Given the description of an element on the screen output the (x, y) to click on. 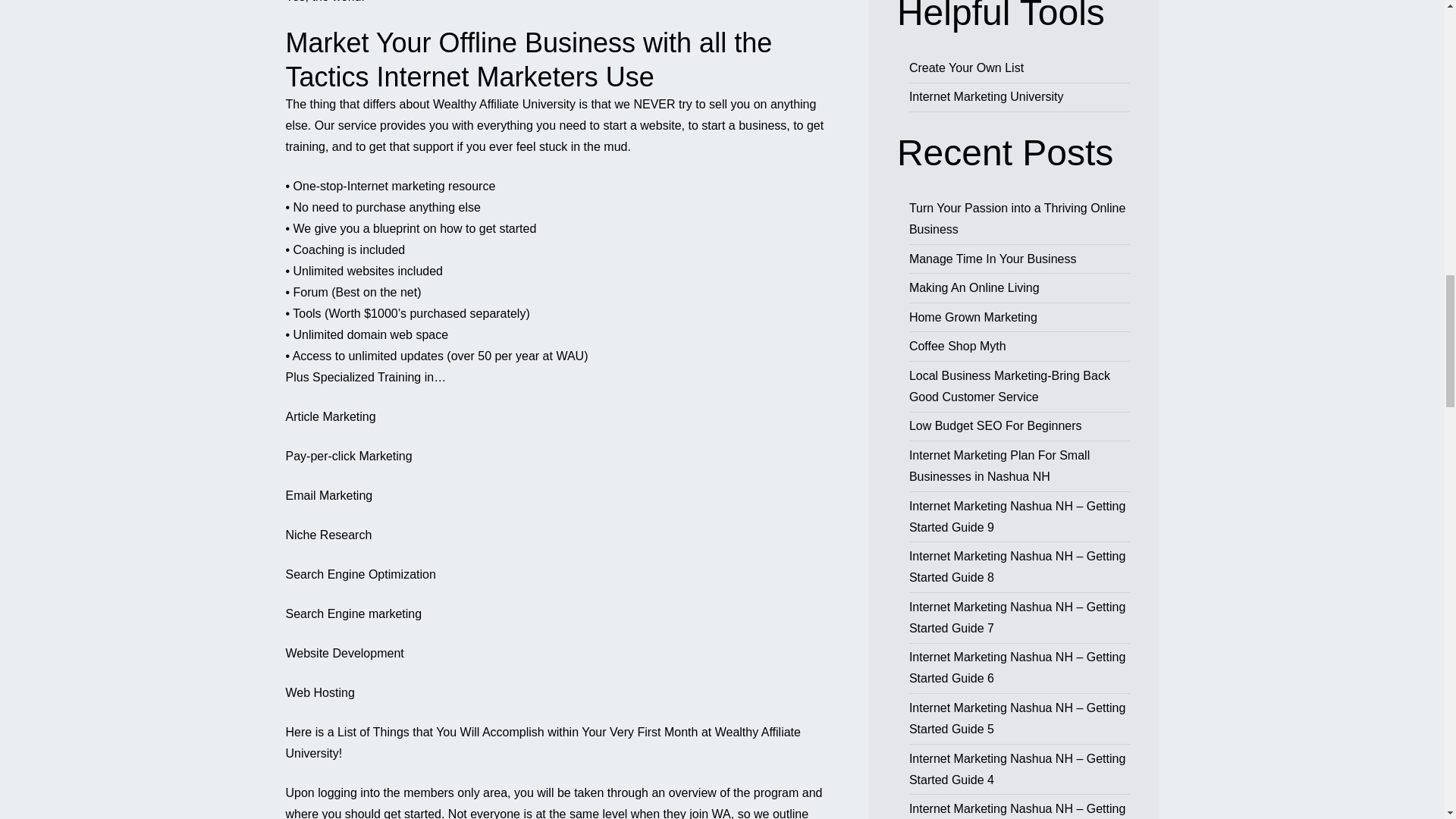
Internet Marketing University (986, 96)
Home Grown Marketing (972, 317)
Low Budget SEO For Beginners (994, 425)
Manage Time In Your Business (992, 257)
Create Your Own List (965, 67)
Coffee Shop Myth (957, 345)
Local Business Marketing-Bring Back Good Customer Service (1008, 386)
Turn Your Passion into a Thriving Online Business (1016, 218)
Internet Marketing Plan For Small Businesses in Nashua NH (998, 465)
Making An Online Living (973, 287)
